Given the description of an element on the screen output the (x, y) to click on. 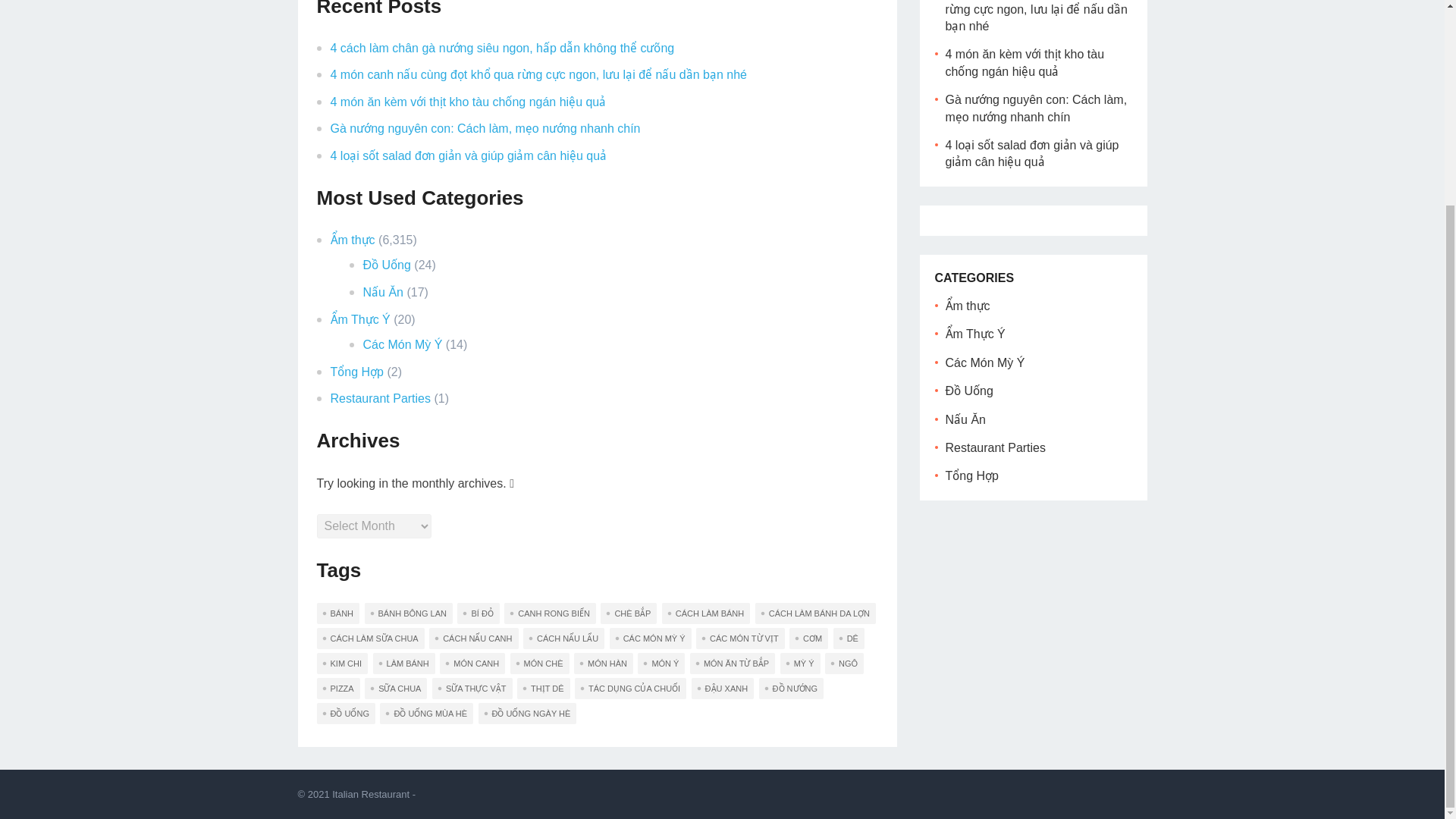
Restaurant Parties (380, 398)
KIM CHI (342, 663)
